Given the description of an element on the screen output the (x, y) to click on. 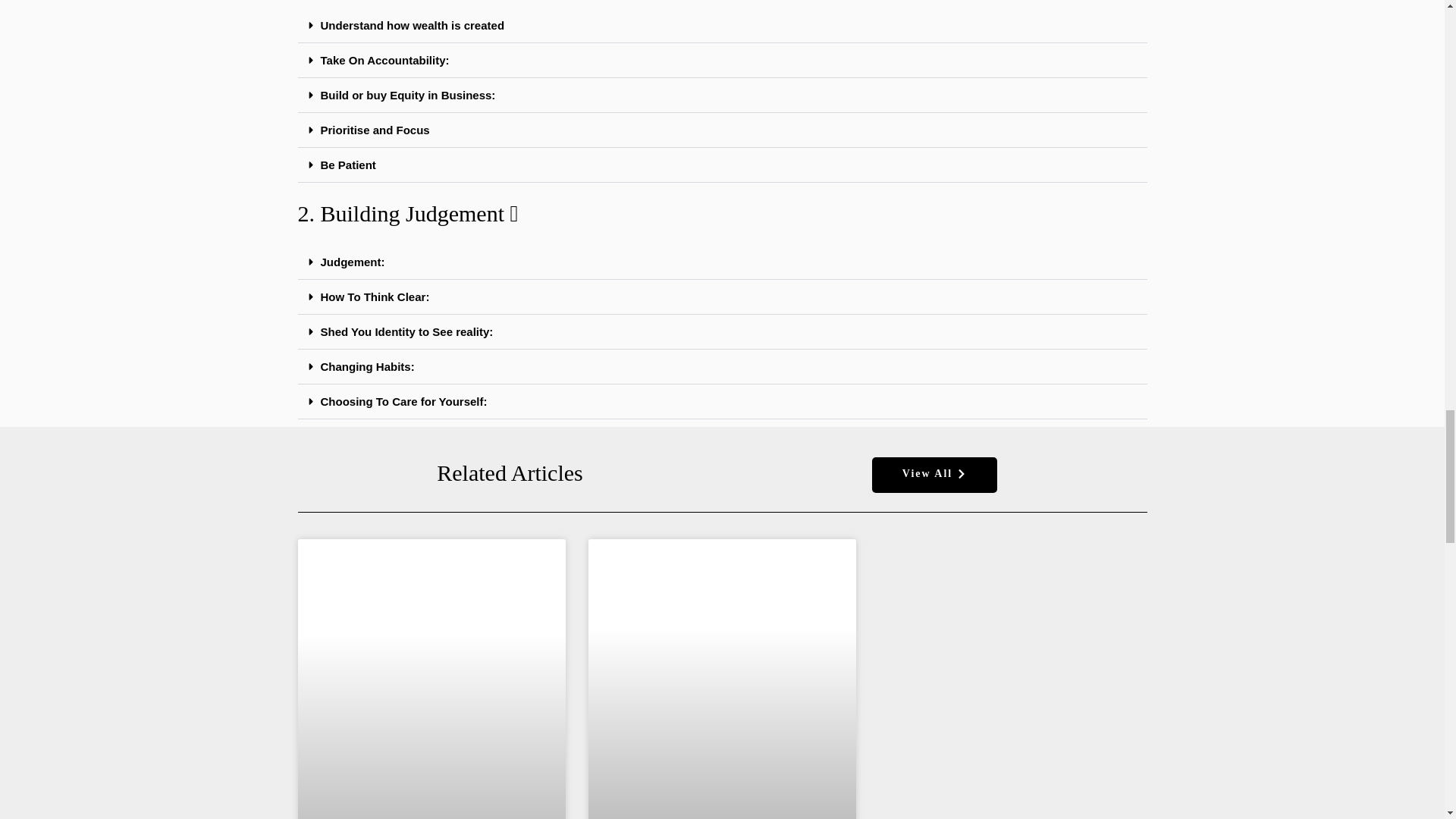
Choosing To Care for Yourself: (403, 400)
Understand how wealth is created (411, 24)
Build or buy Equity in Business: (407, 94)
Take On Accountability: (384, 60)
How To Think Clear: (374, 296)
View All (934, 475)
Changing Habits: (366, 366)
Prioritise and Focus (374, 129)
Judgement: (352, 261)
Shed You Identity to See reality: (406, 331)
Be Patient (347, 164)
